Given the description of an element on the screen output the (x, y) to click on. 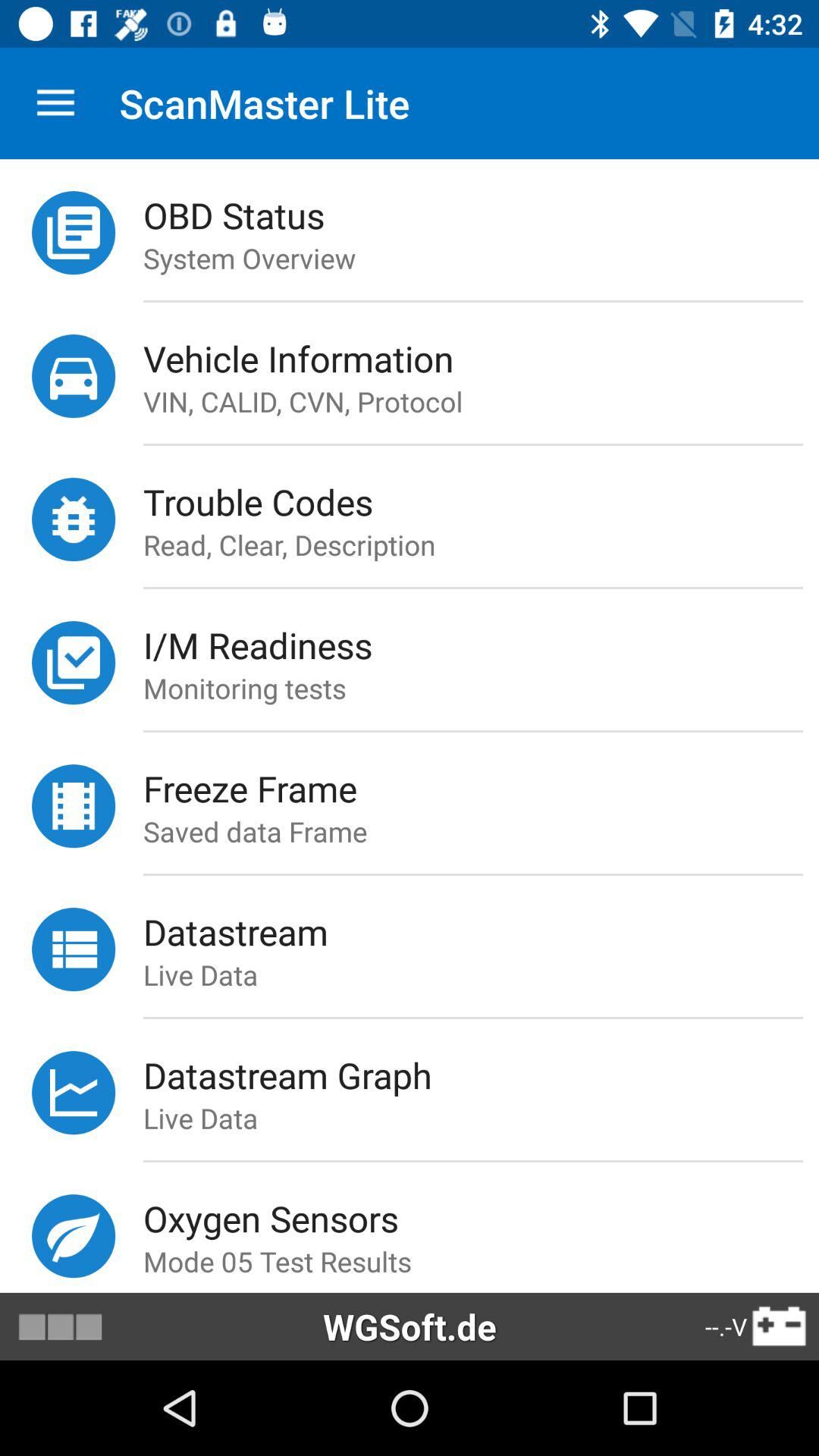
tap the icon above the system overview icon (481, 215)
